Given the description of an element on the screen output the (x, y) to click on. 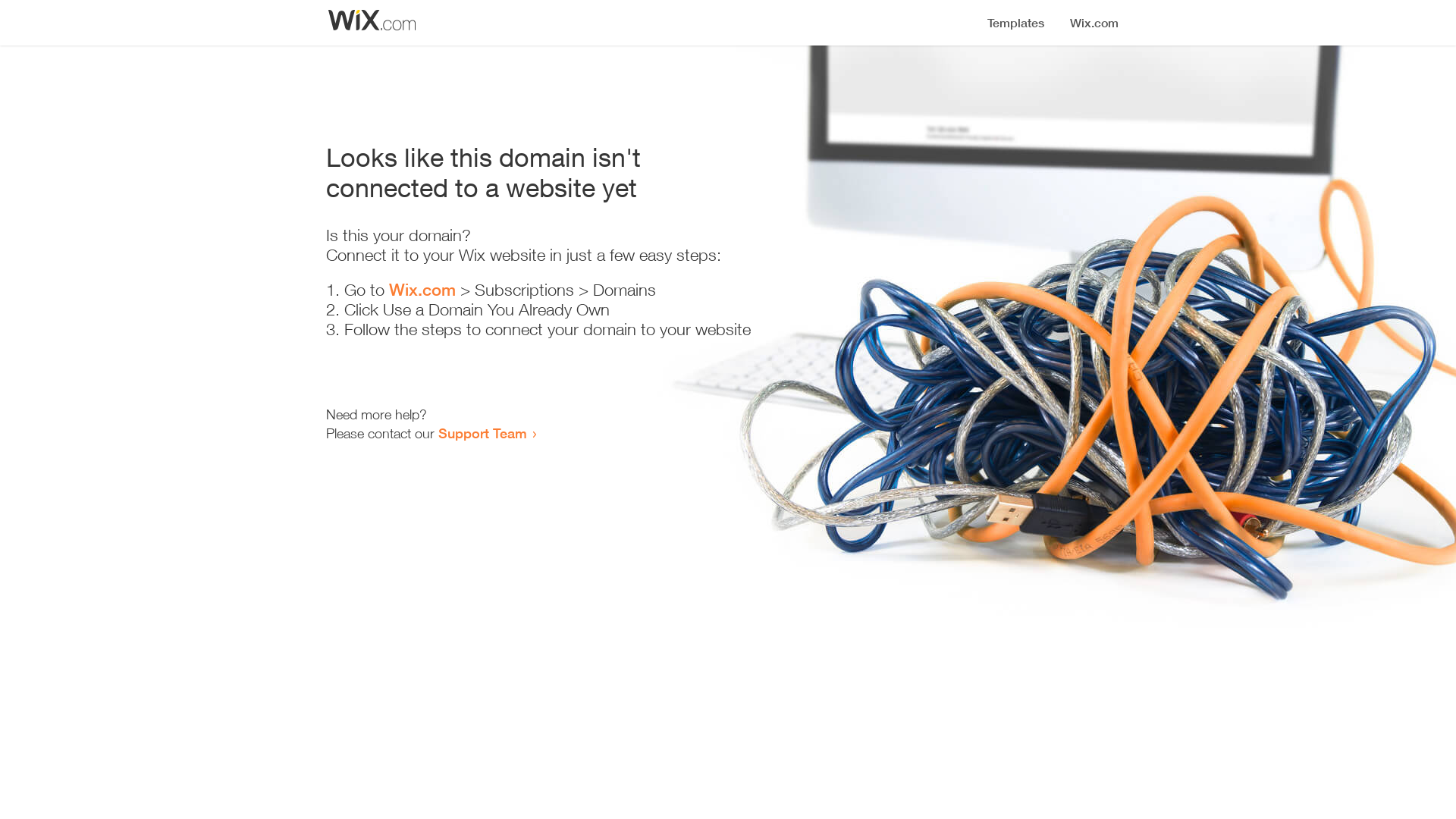
Support Team Element type: text (482, 432)
Wix.com Element type: text (422, 289)
